Given the description of an element on the screen output the (x, y) to click on. 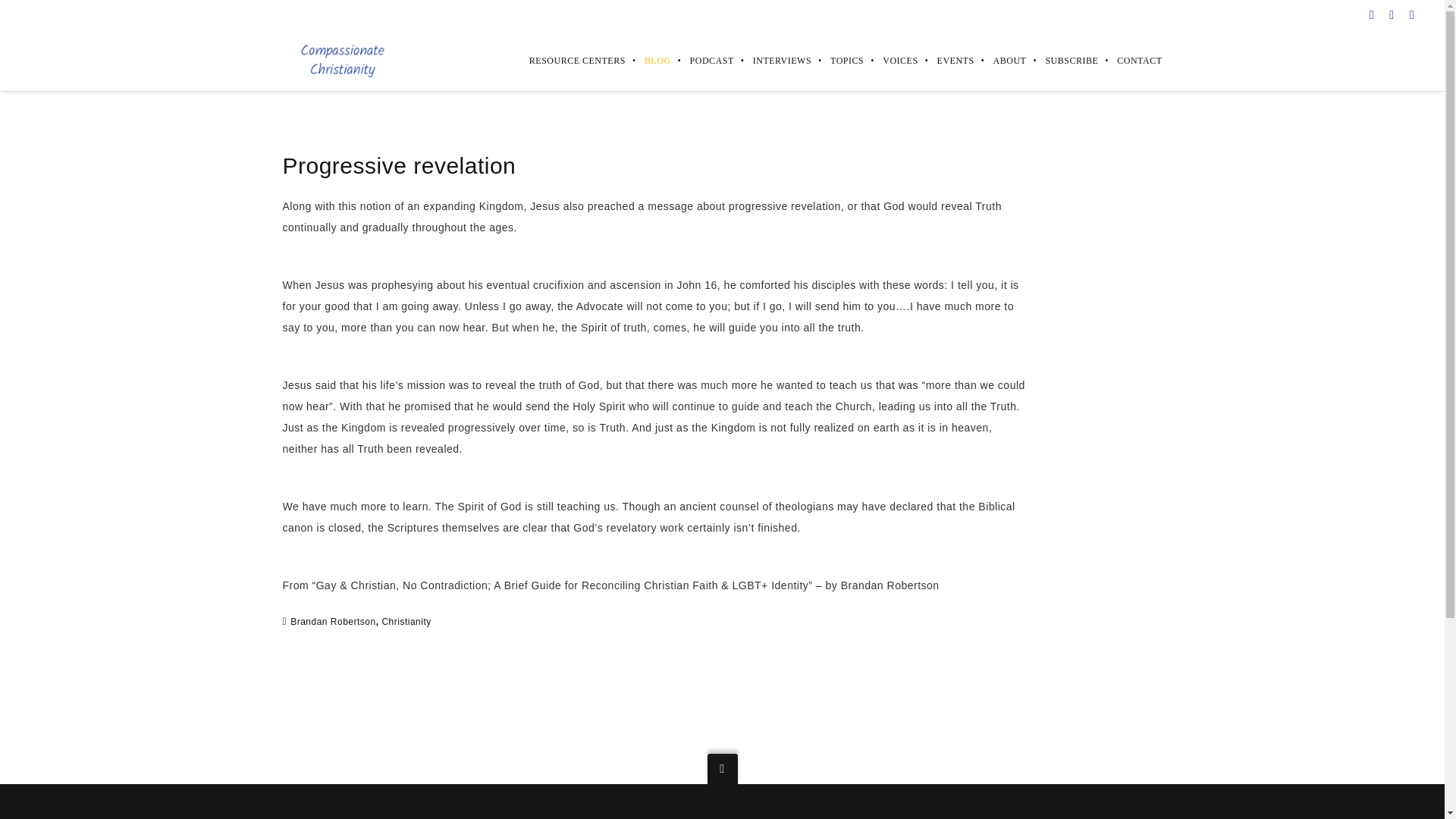
SUBSCRIBE (1061, 60)
INTERVIEWS (771, 60)
Christianity (405, 620)
PODCAST (702, 60)
Brandan Robertson (332, 620)
RESOURCE CENTERS (568, 60)
Compassionate Christianity (341, 60)
EVENTS (946, 60)
CONTACT (1129, 60)
Search (31, 15)
